Given the description of an element on the screen output the (x, y) to click on. 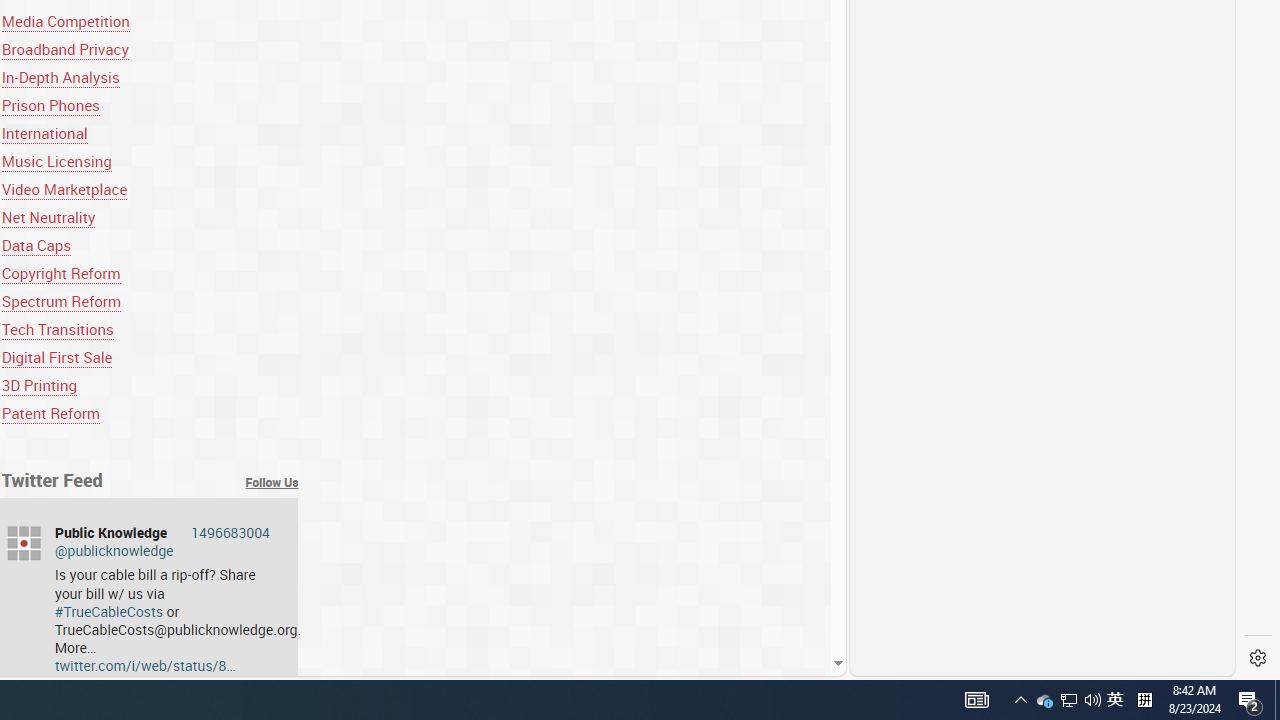
Video Marketplace (150, 189)
1496683004 (230, 532)
Media Competition (150, 20)
Broadband Privacy (65, 48)
Patent Reform (50, 413)
publicknowledge (24, 543)
Tech Transitions (57, 328)
Data Caps (150, 245)
Data Caps (36, 245)
Tech Transitions (150, 328)
#TrueCableCosts (108, 610)
Prison Phones (150, 105)
Digital First Sale (56, 357)
Prison Phones (50, 105)
